Given the description of an element on the screen output the (x, y) to click on. 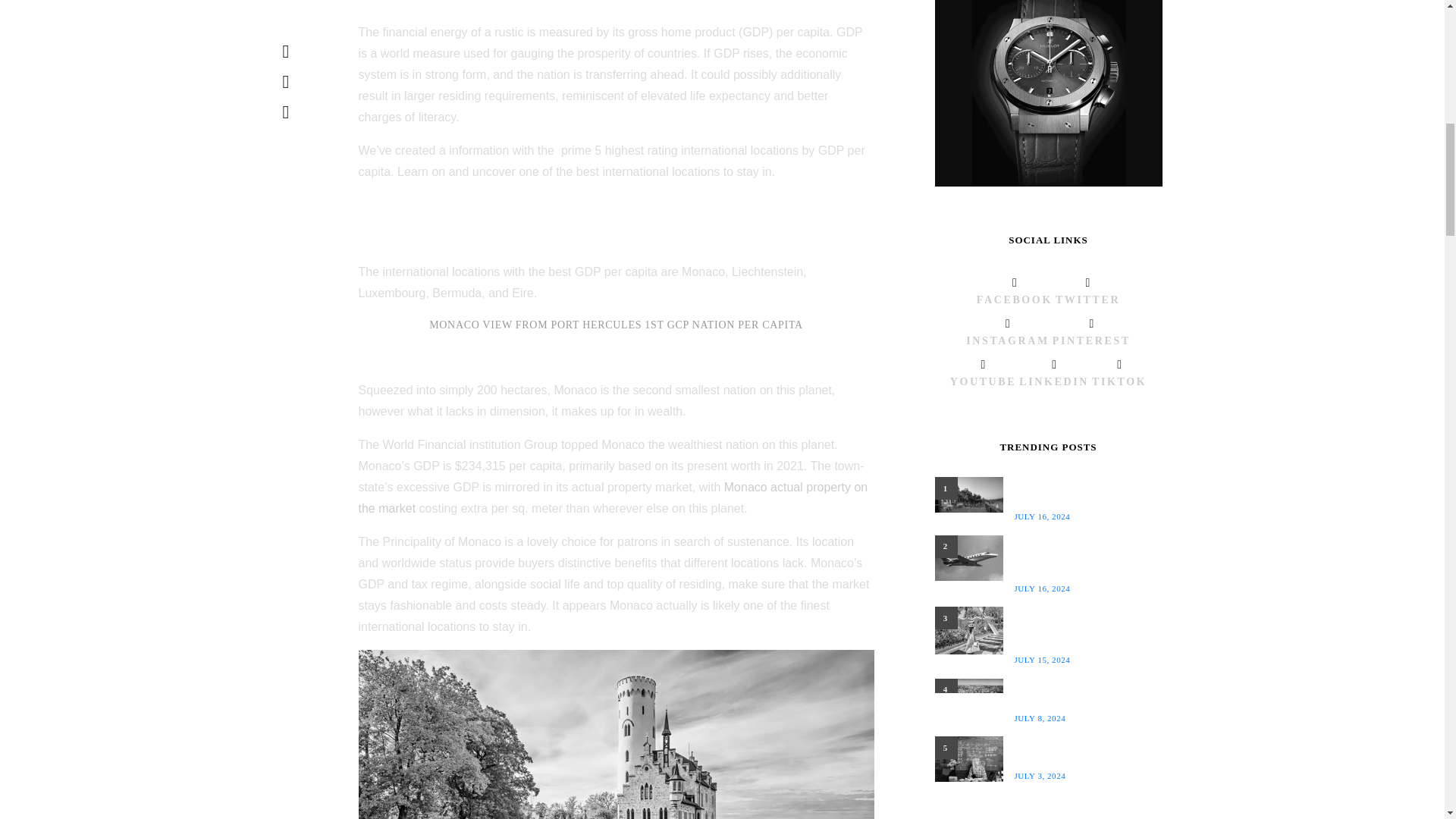
Lichtenstein castle (615, 734)
